Given the description of an element on the screen output the (x, y) to click on. 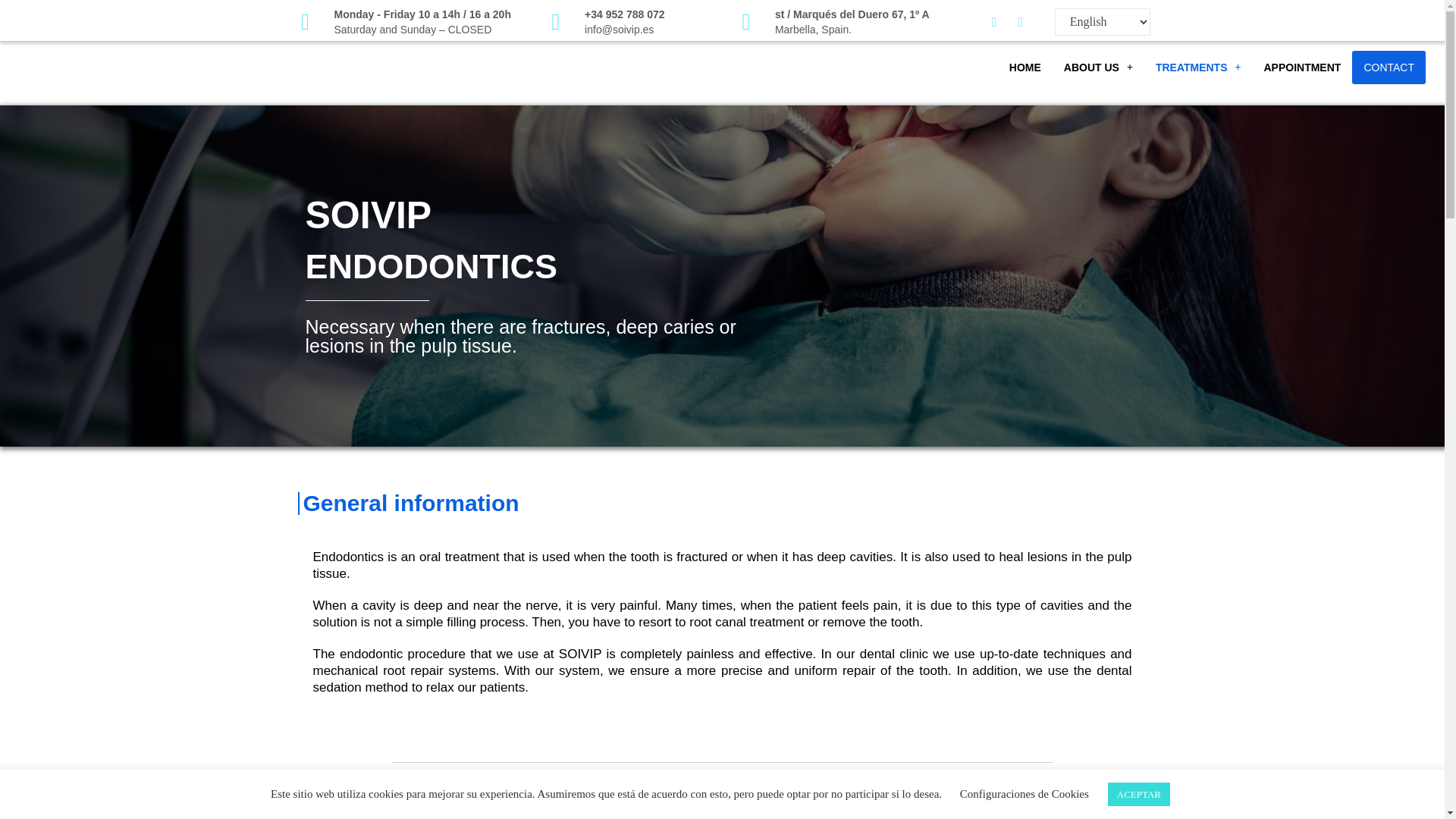
CONTACT (1388, 67)
HOME (1024, 67)
APPOINTMENT (1302, 67)
ABOUT US (1098, 67)
TREATMENTS (1198, 67)
